Given the description of an element on the screen output the (x, y) to click on. 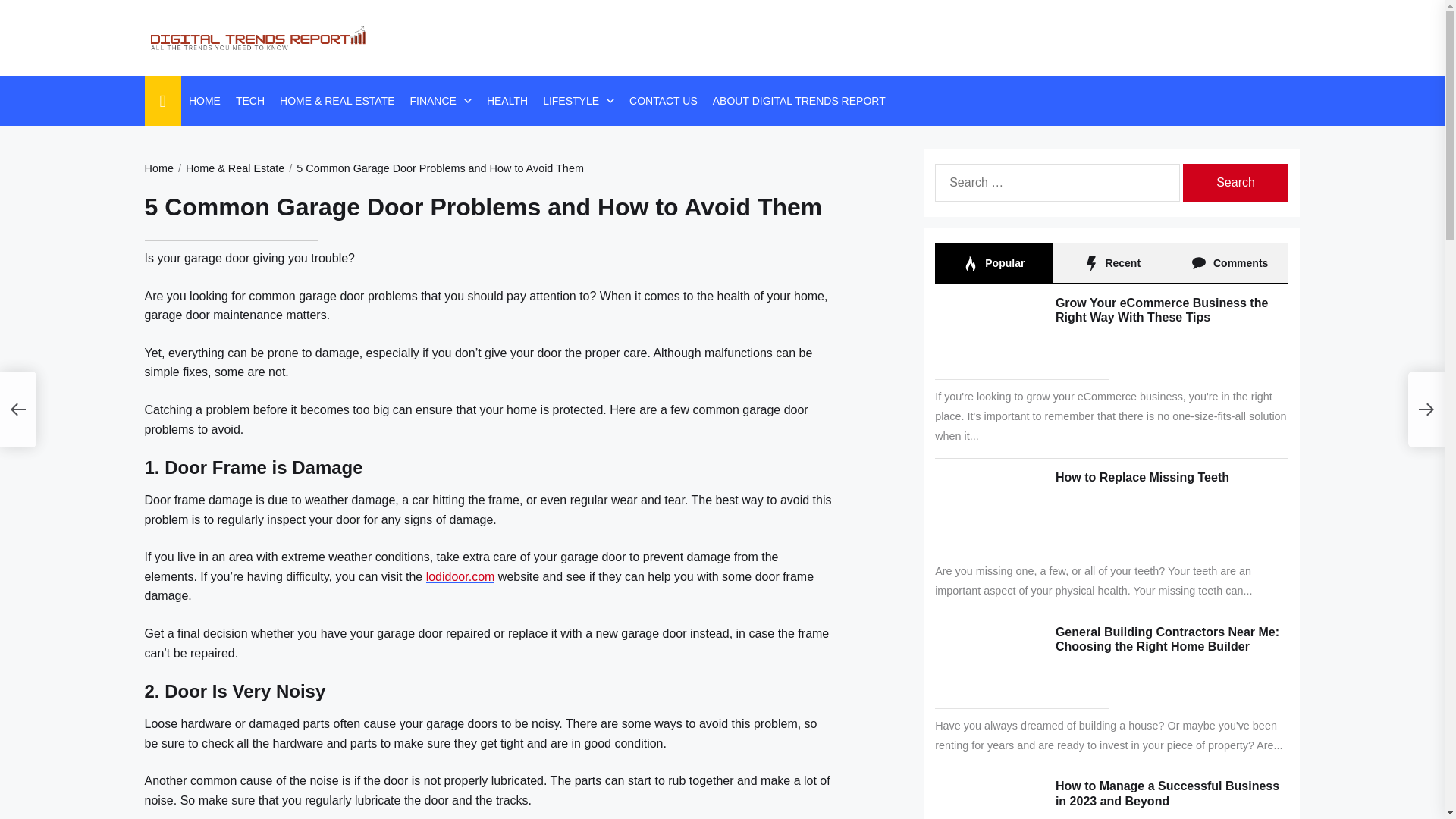
How to Replace Missing Teeth (1141, 477)
TECH (249, 100)
Search (1235, 182)
ABOUT DIGITAL TRENDS REPORT (799, 100)
How to Manage a Successful Business in 2023 and Beyond (1167, 792)
HOME (205, 100)
HEALTH (506, 100)
FINANCE (432, 100)
LIFESTYLE (570, 100)
CONTACT US (662, 100)
Grow Your eCommerce Business the Right Way With These Tips (1161, 309)
Search (1235, 182)
Digital Trends Report (328, 97)
5 Common Garage Door Problems and How to Avoid Them (433, 168)
